Given the description of an element on the screen output the (x, y) to click on. 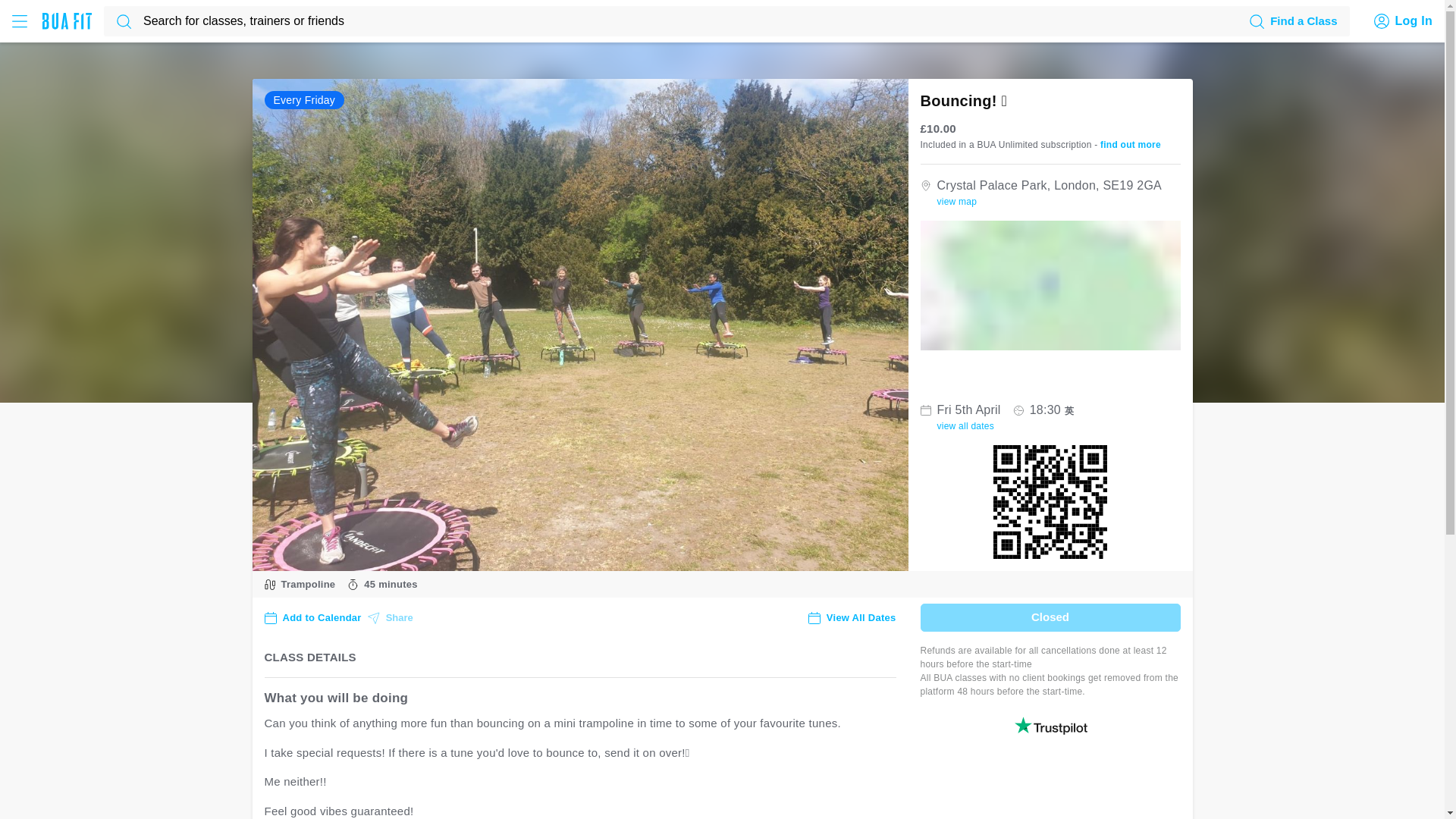
Closed (1050, 617)
BUA FIT (66, 21)
Crystal Palace Park, London, SE19 2GA (956, 200)
download QR code (1050, 507)
Add to Calendar (312, 617)
view all dates (965, 425)
view map (956, 200)
Customer reviews powered by Trustpilot (1050, 725)
Find a Class (1292, 21)
Crystal Palace Park, London, SE19 2GA (1050, 285)
